Given the description of an element on the screen output the (x, y) to click on. 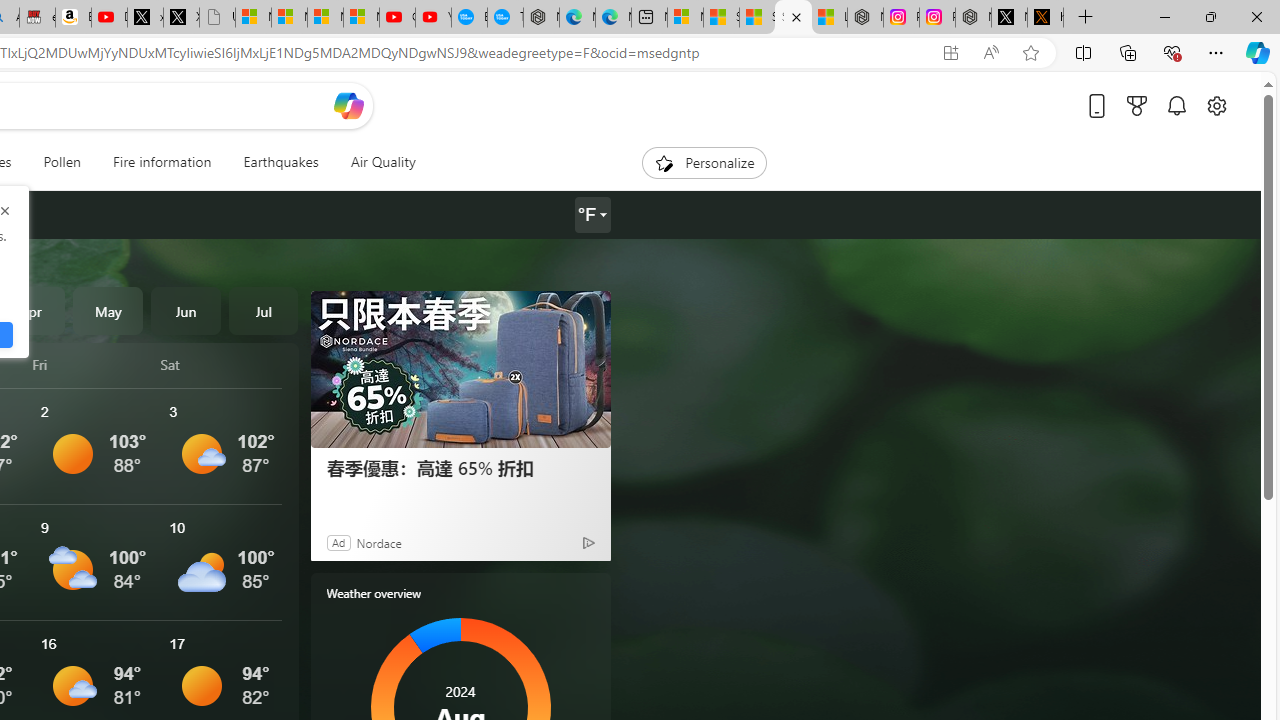
Jul (263, 310)
Earthquakes (280, 162)
Fire information (161, 162)
Jun (186, 310)
